Given the description of an element on the screen output the (x, y) to click on. 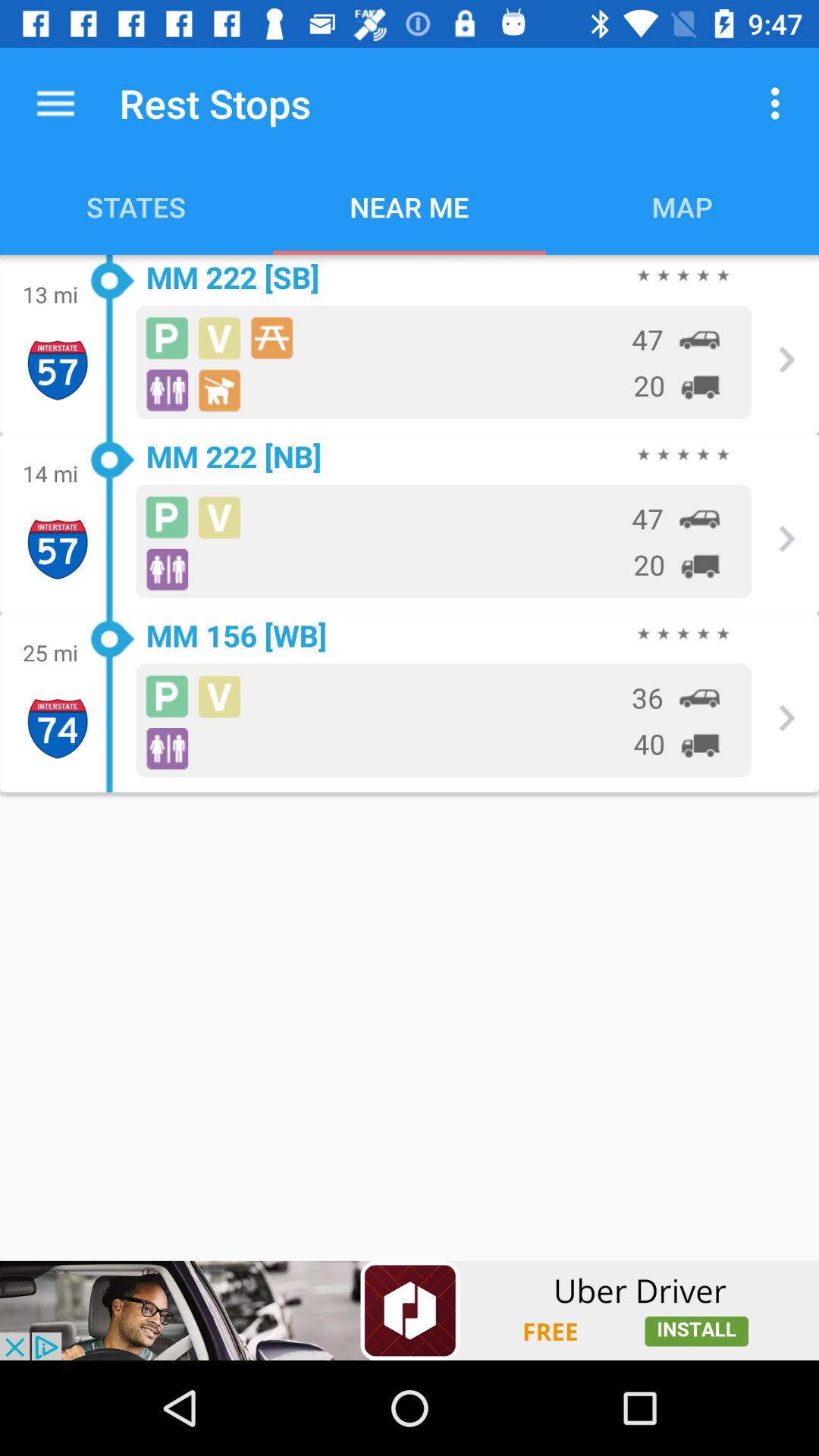
launch advertisement (409, 1310)
